Given the description of an element on the screen output the (x, y) to click on. 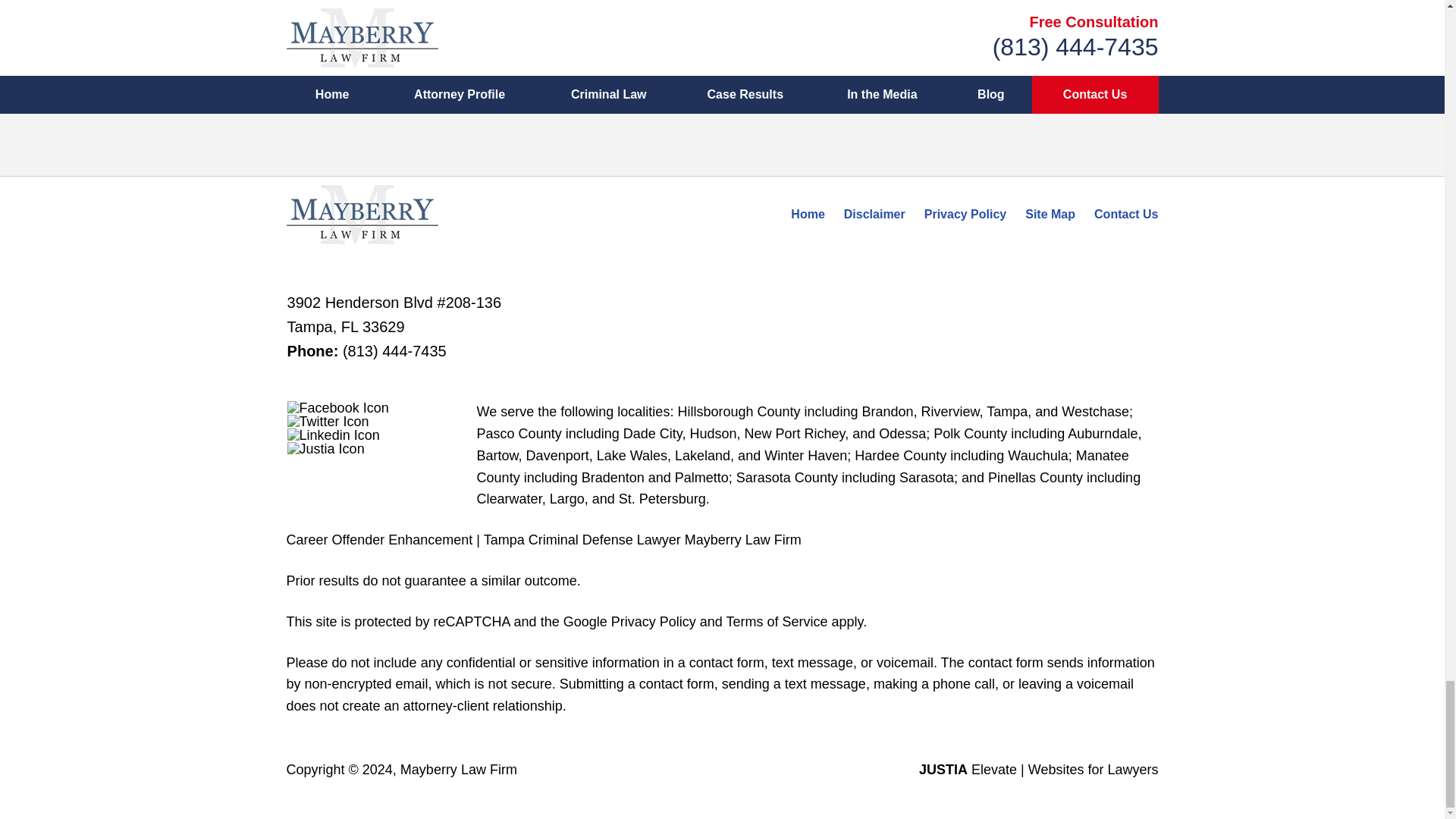
Facebook (337, 407)
Twitter (327, 421)
Justia (325, 448)
Linkedin (333, 435)
